Given the description of an element on the screen output the (x, y) to click on. 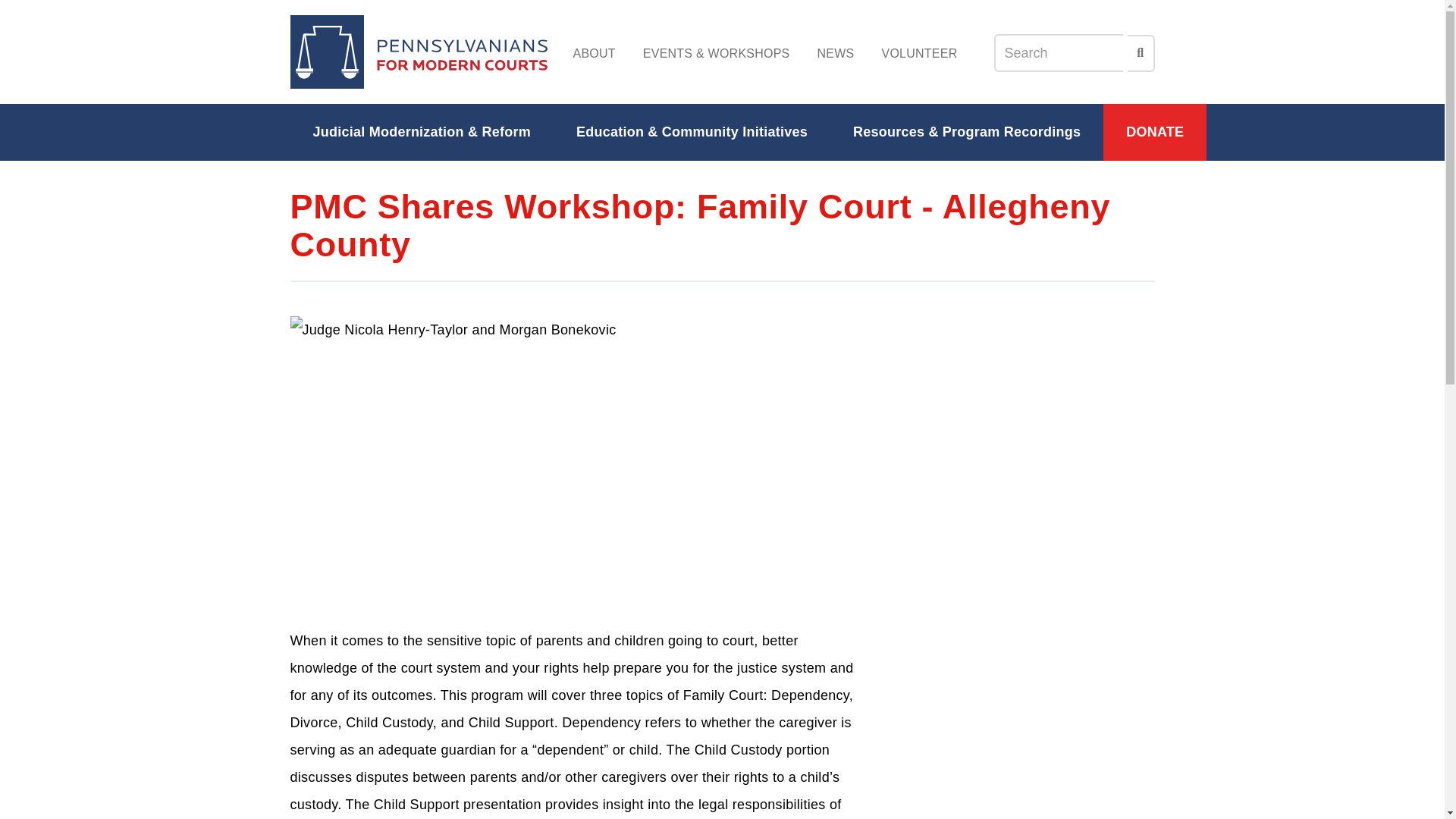
NEWS (835, 53)
VOLUNTEER (919, 53)
DONATE (1155, 132)
Enter the terms you wish to search for. (1057, 53)
ABOUT (594, 53)
Home (418, 51)
